Given the description of an element on the screen output the (x, y) to click on. 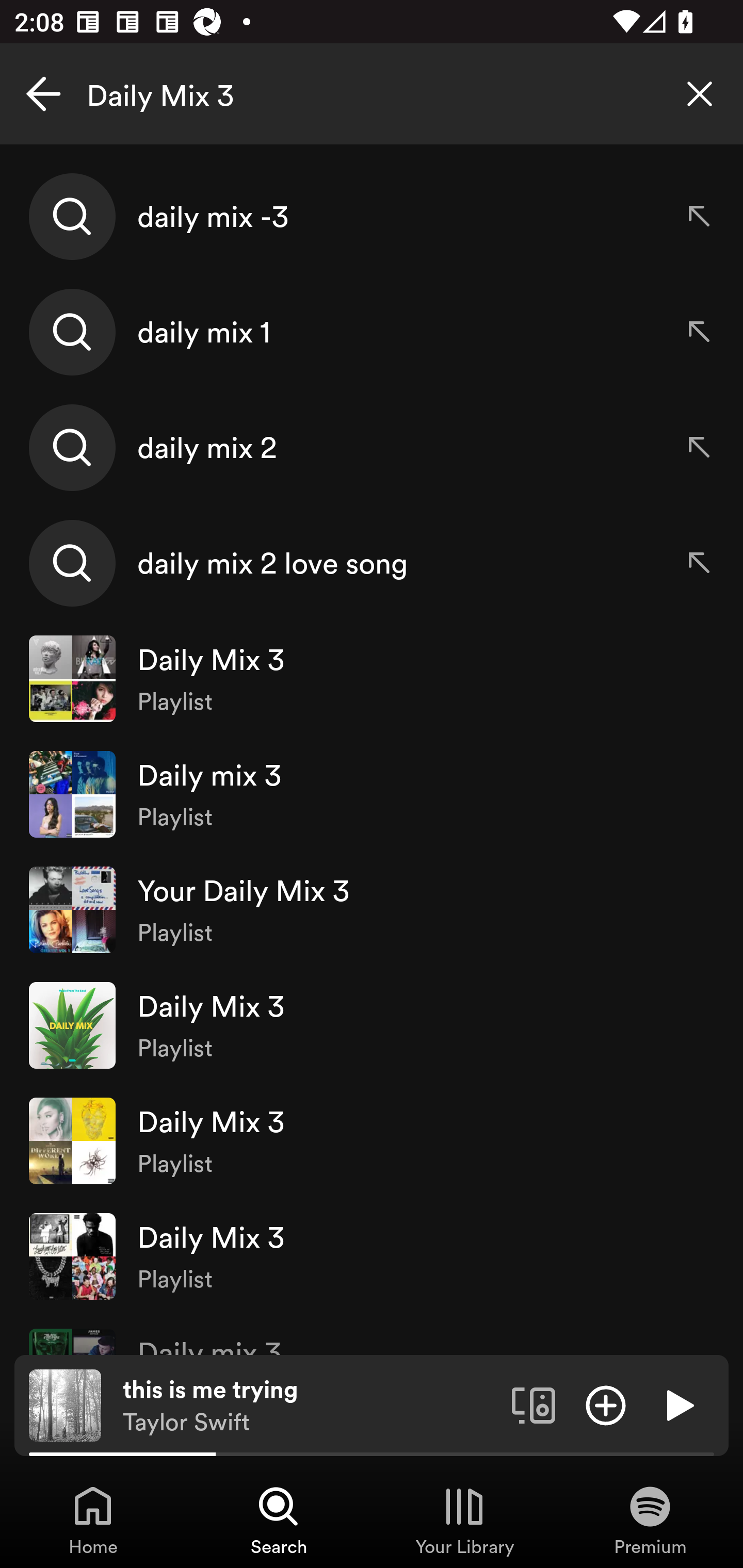
Daily Mix 3 (371, 93)
Cancel (43, 93)
Clear search query (699, 93)
daily mix -3 (371, 216)
daily mix 1 (371, 332)
daily mix 2 (371, 447)
daily mix 2 love song (371, 562)
Daily Mix 3 Playlist (371, 678)
Daily mix 3 Playlist (371, 793)
Your Daily Mix 3 Playlist (371, 909)
Daily Mix 3 Playlist (371, 1025)
Daily Mix 3 Playlist (371, 1140)
Daily Mix 3 Playlist (371, 1255)
this is me trying Taylor Swift (309, 1405)
The cover art of the currently playing track (64, 1404)
